Given the description of an element on the screen output the (x, y) to click on. 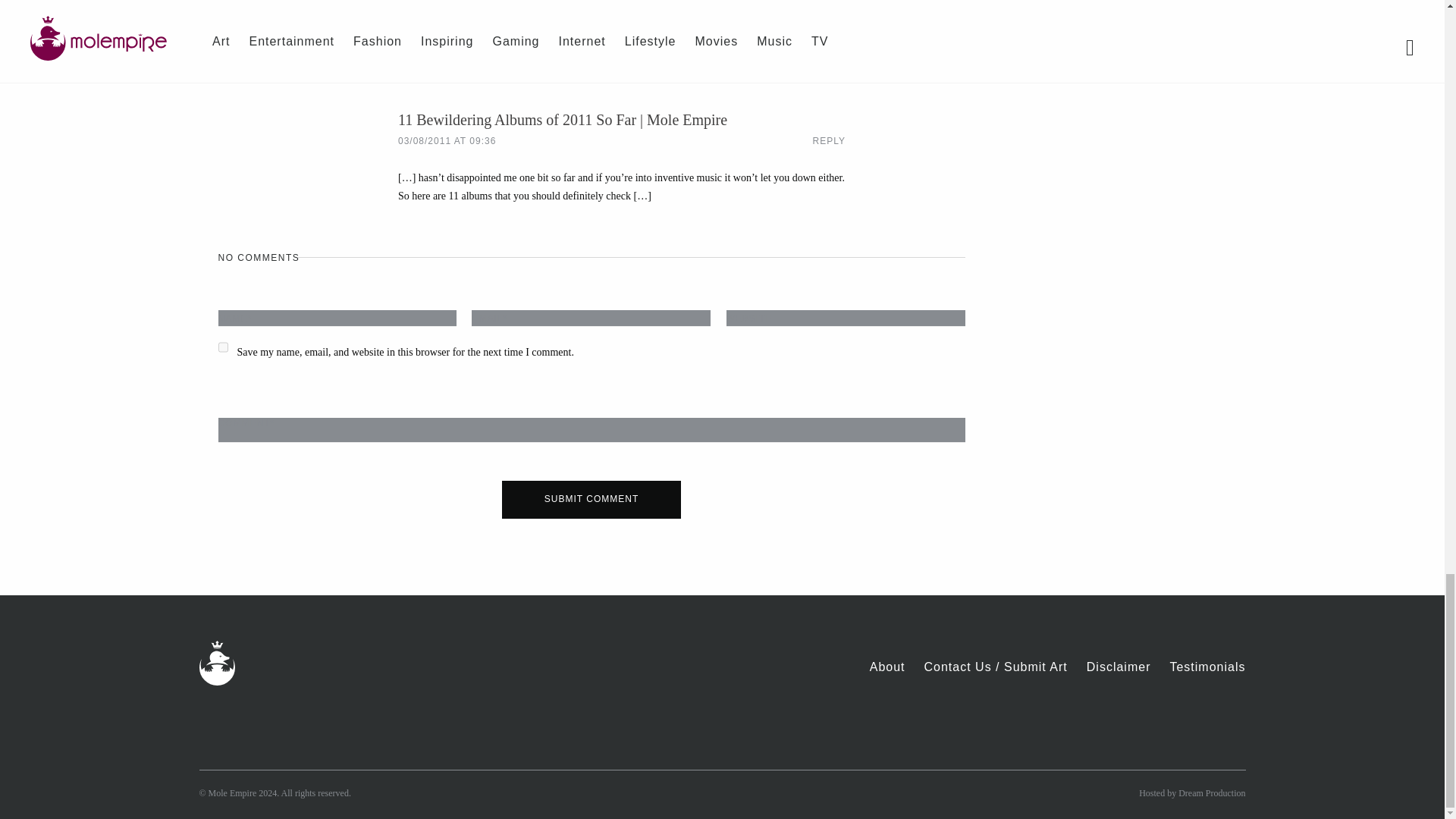
REPLY (828, 140)
Submit comment (591, 499)
Submit comment (591, 499)
yes (223, 347)
